Given the description of an element on the screen output the (x, y) to click on. 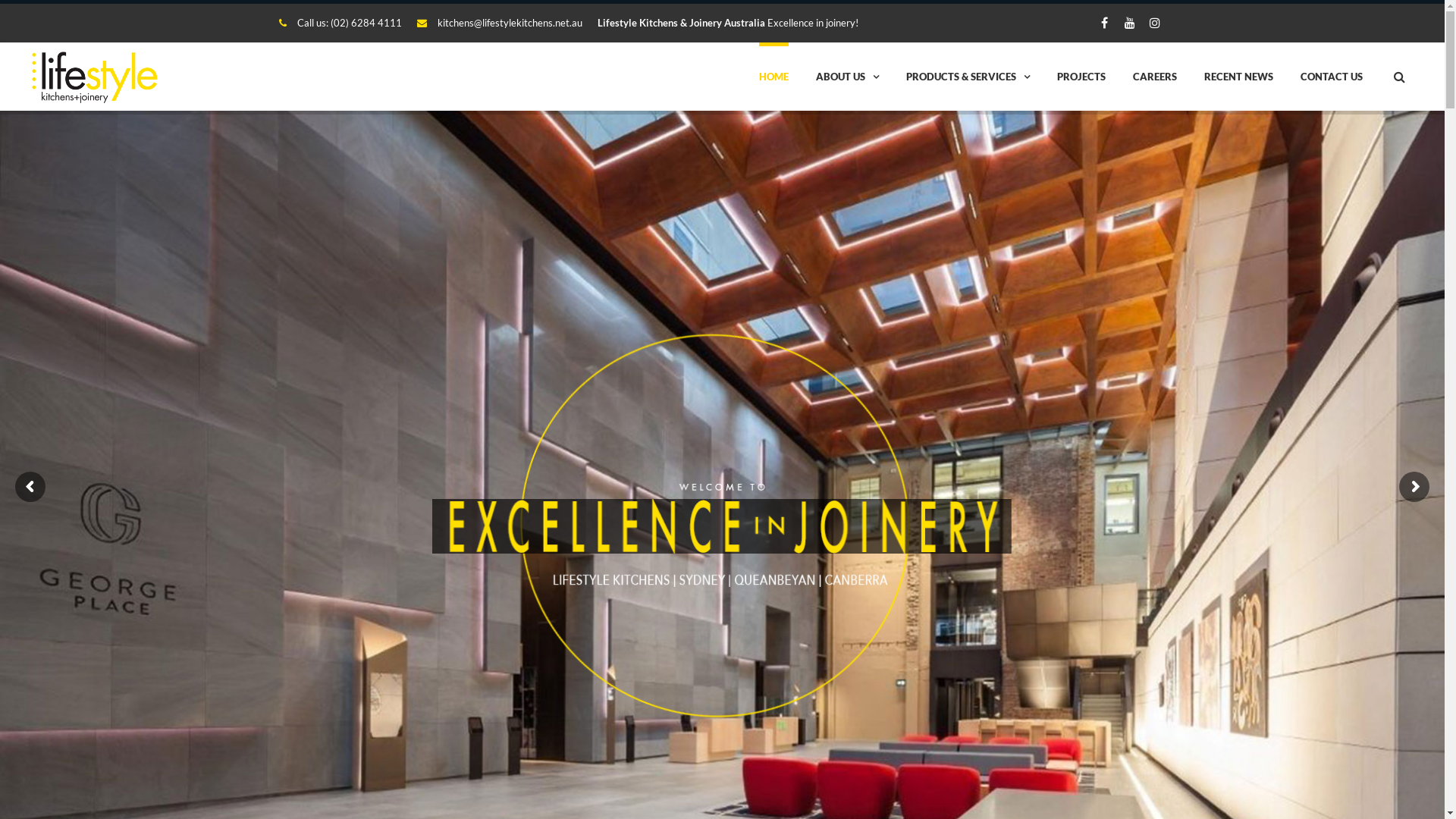
CAREERS Element type: text (1154, 76)
PROJECTS Element type: text (1081, 76)
ABOUT US Element type: text (846, 76)
(02) 6284 4111 Element type: text (365, 22)
CONTACT US Element type: text (1331, 76)
PRODUCTS & SERVICES Element type: text (967, 76)
HOME Element type: text (773, 76)
kitchens@lifestylekitchens.net.au Element type: text (508, 22)
RECENT NEWS Element type: text (1238, 76)
Lifestyle Kitchens & Joinery Element type: hover (96, 77)
